Given the description of an element on the screen output the (x, y) to click on. 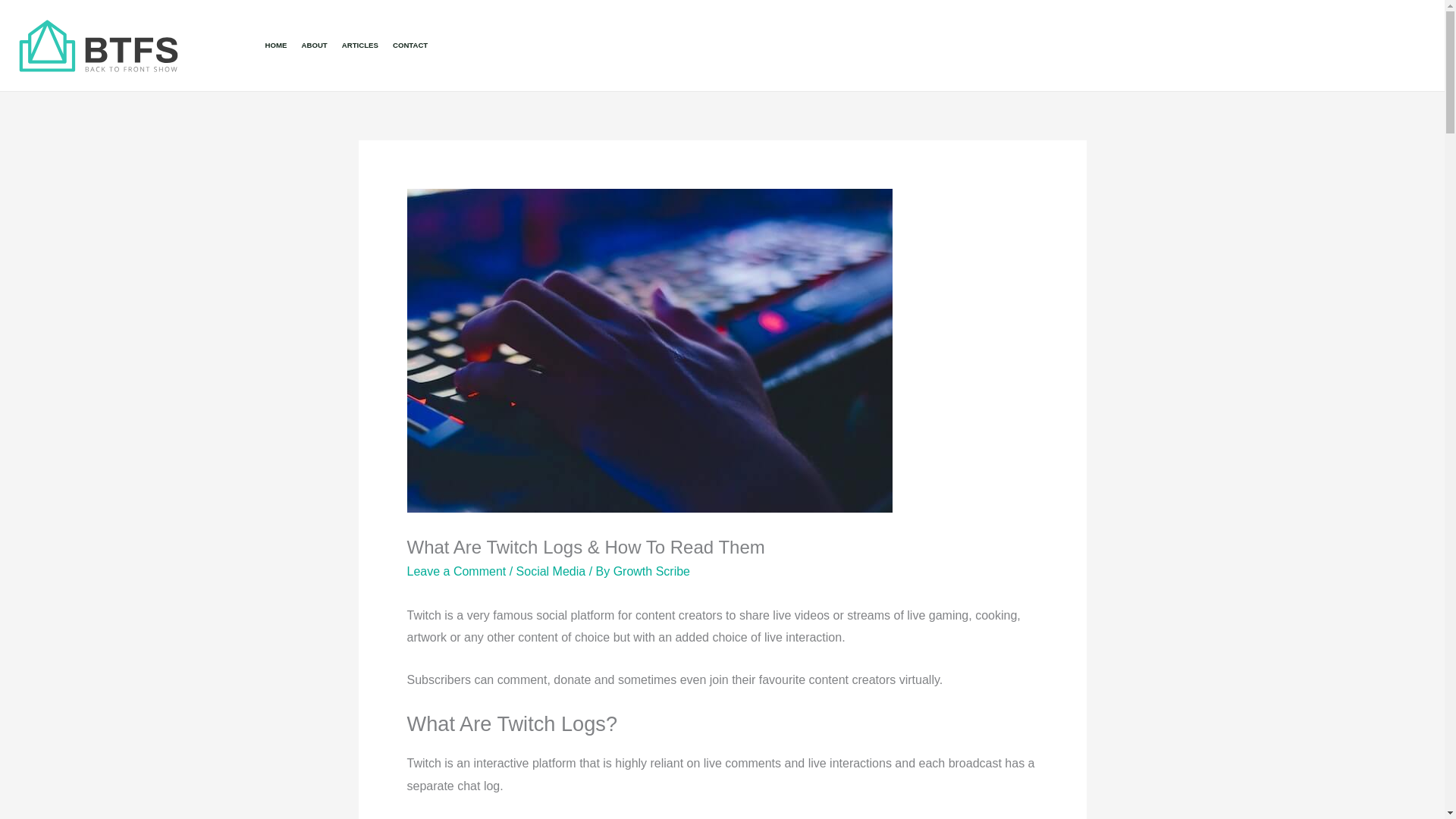
View all posts by Growth Scribe (651, 571)
Growth Scribe (651, 571)
Leave a Comment (455, 571)
Social Media (551, 571)
